Given the description of an element on the screen output the (x, y) to click on. 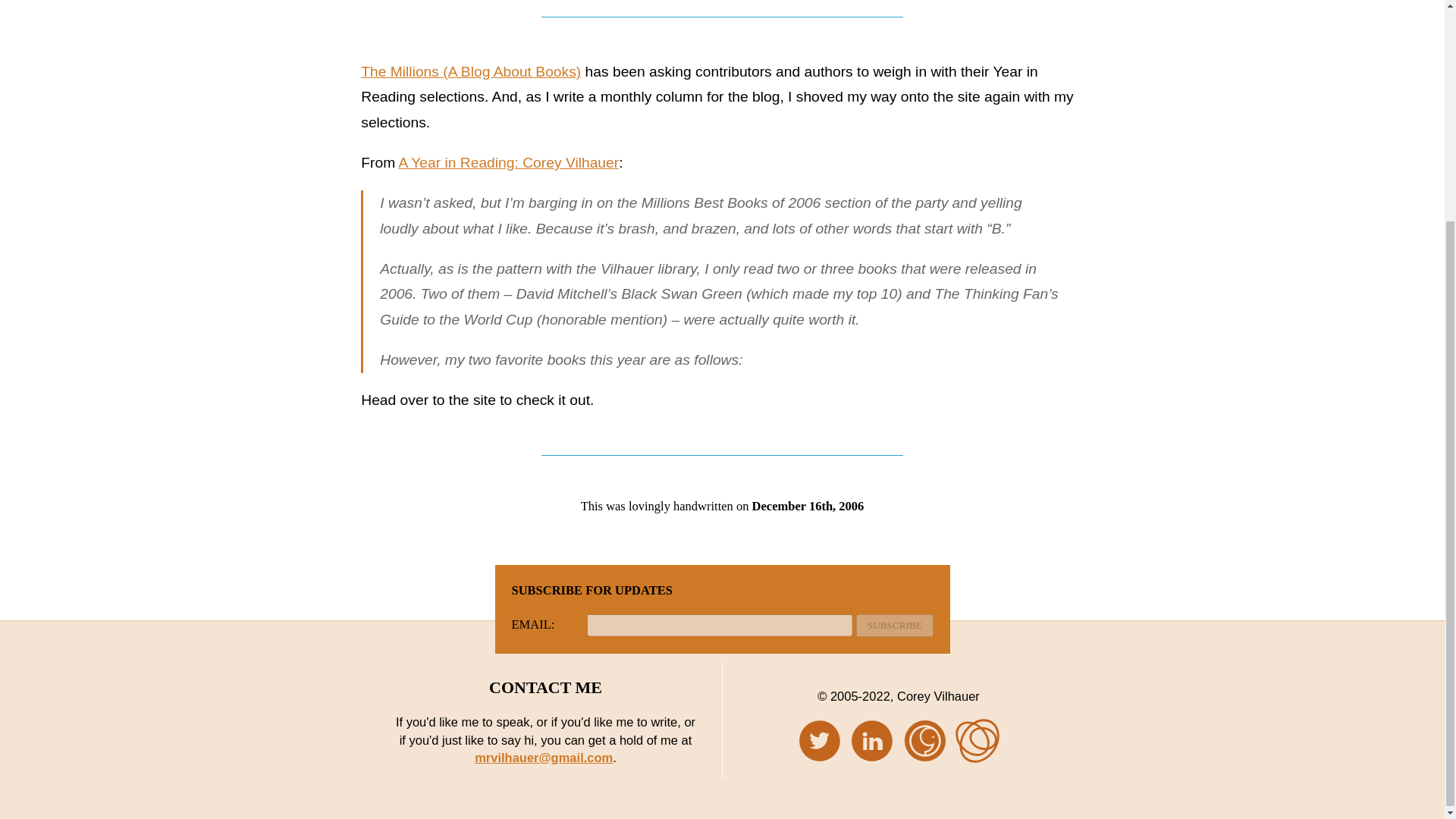
Subscribe (894, 625)
Subscribe (894, 625)
A Year in Reading: Corey Vilhauer (507, 162)
